Given the description of an element on the screen output the (x, y) to click on. 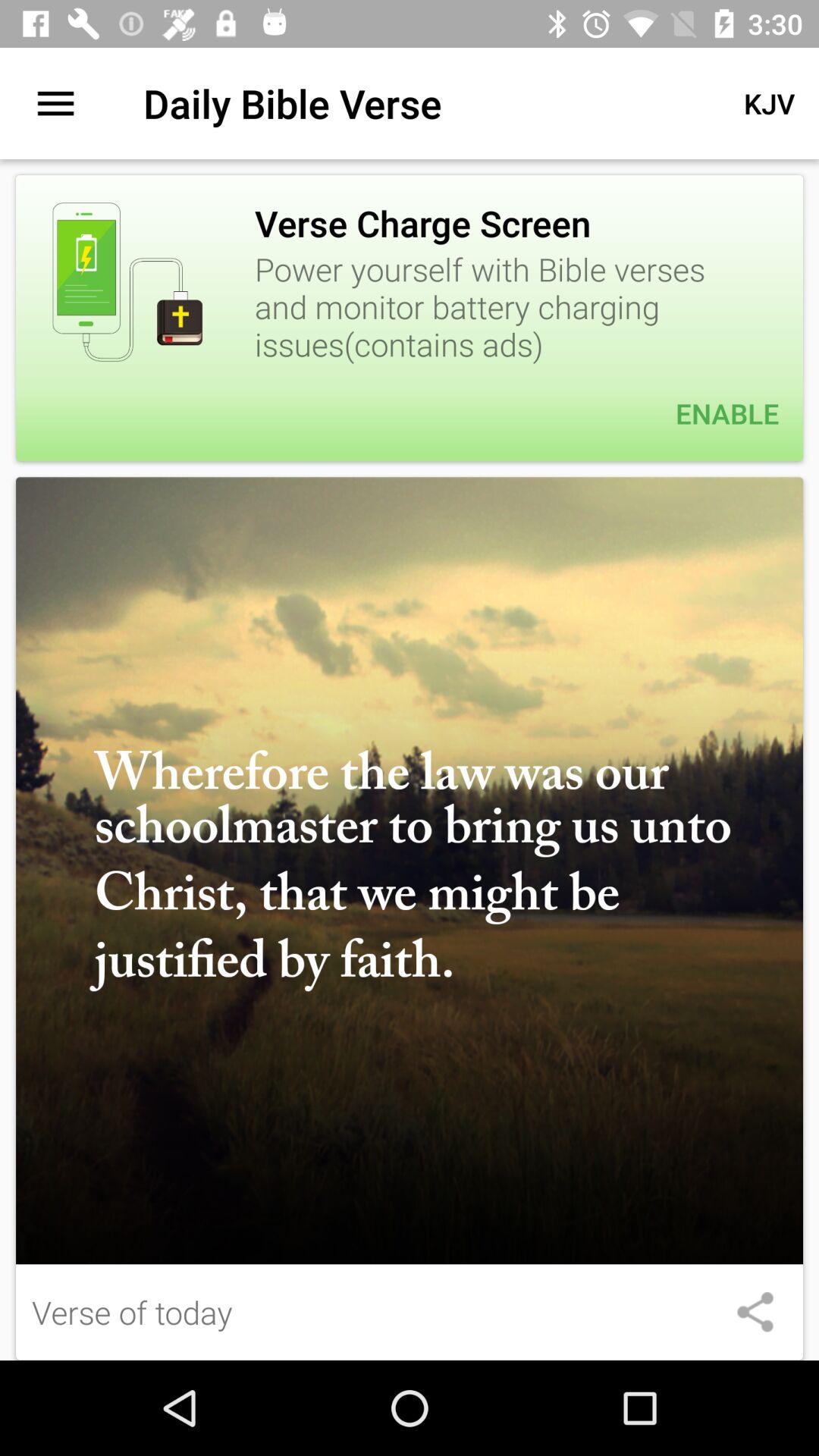
swipe to enable (409, 413)
